Given the description of an element on the screen output the (x, y) to click on. 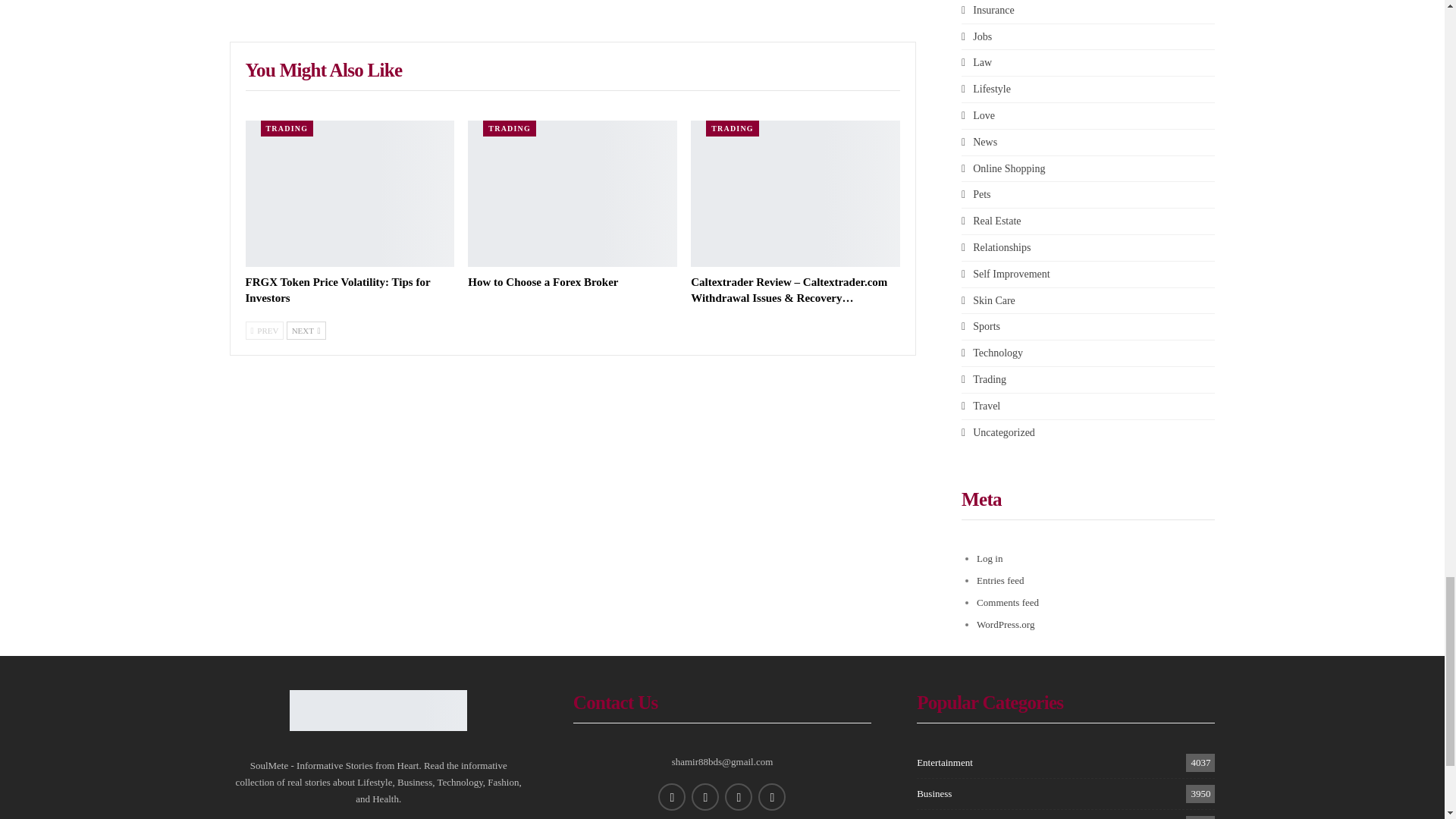
FRGX Token Price Volatility: Tips for Investors (350, 193)
How to Choose a Forex Broker (572, 193)
FRGX Token Price Volatility: Tips for Investors (338, 289)
How to Choose a Forex Broker (542, 282)
